Given the description of an element on the screen output the (x, y) to click on. 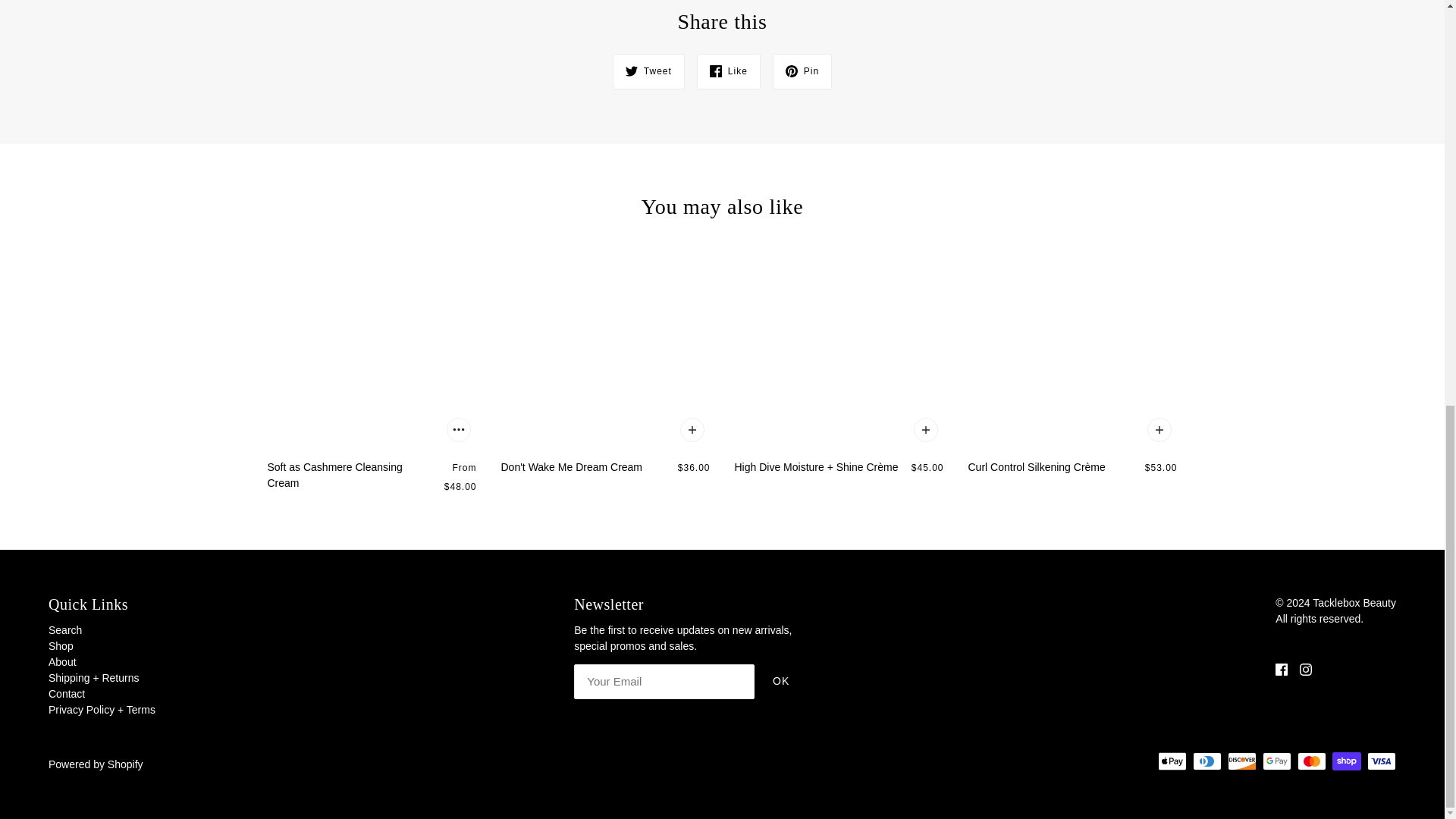
About (62, 662)
Search (64, 630)
Apple Pay (1171, 761)
Discover (1241, 761)
Contact (66, 693)
Mastercard (1311, 761)
Google Pay (1276, 761)
Shop (61, 645)
Shop Pay (1346, 761)
Diners Club (1206, 761)
